Given the description of an element on the screen output the (x, y) to click on. 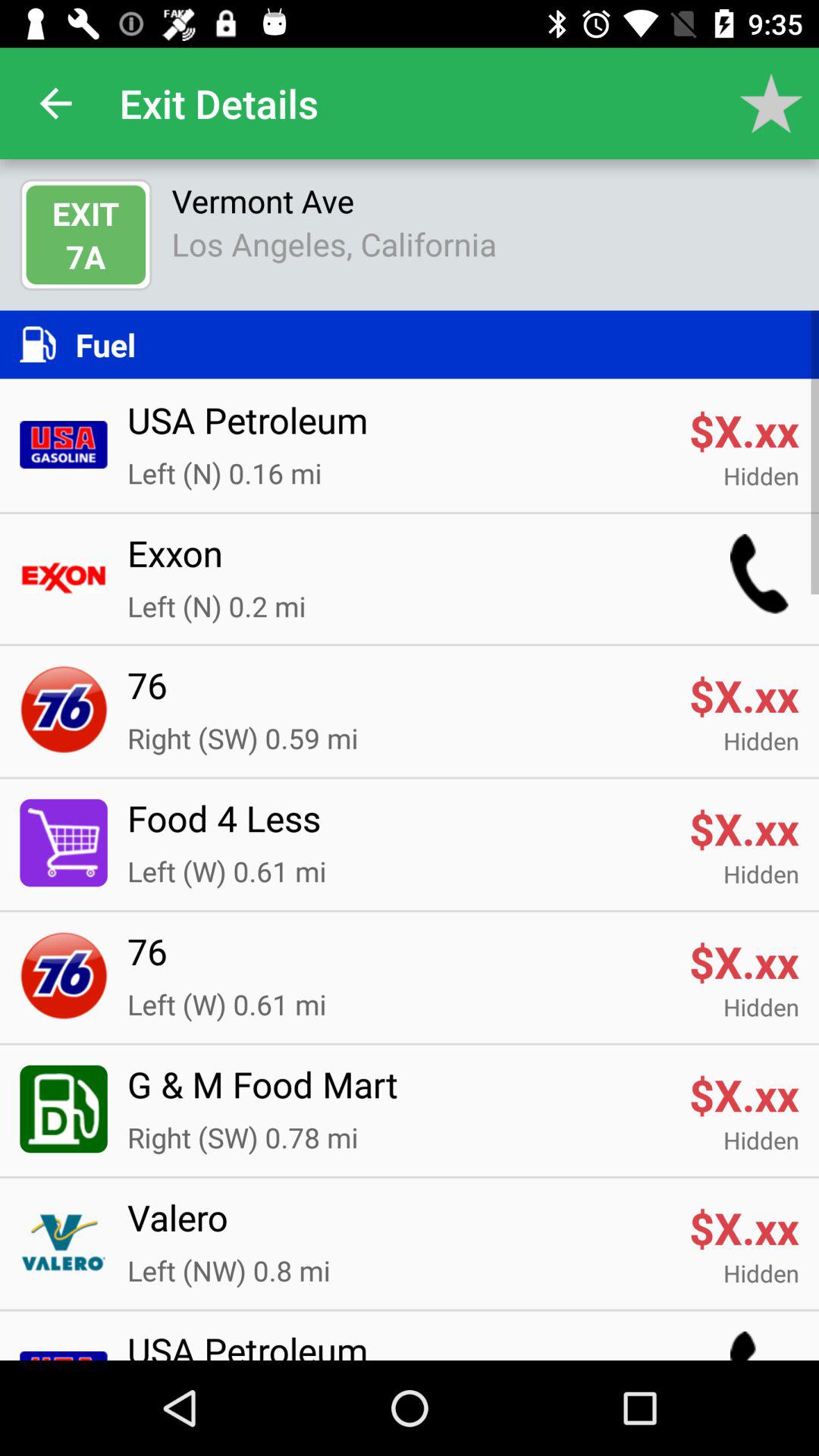
press icon above the left n 0 item (398, 562)
